Given the description of an element on the screen output the (x, y) to click on. 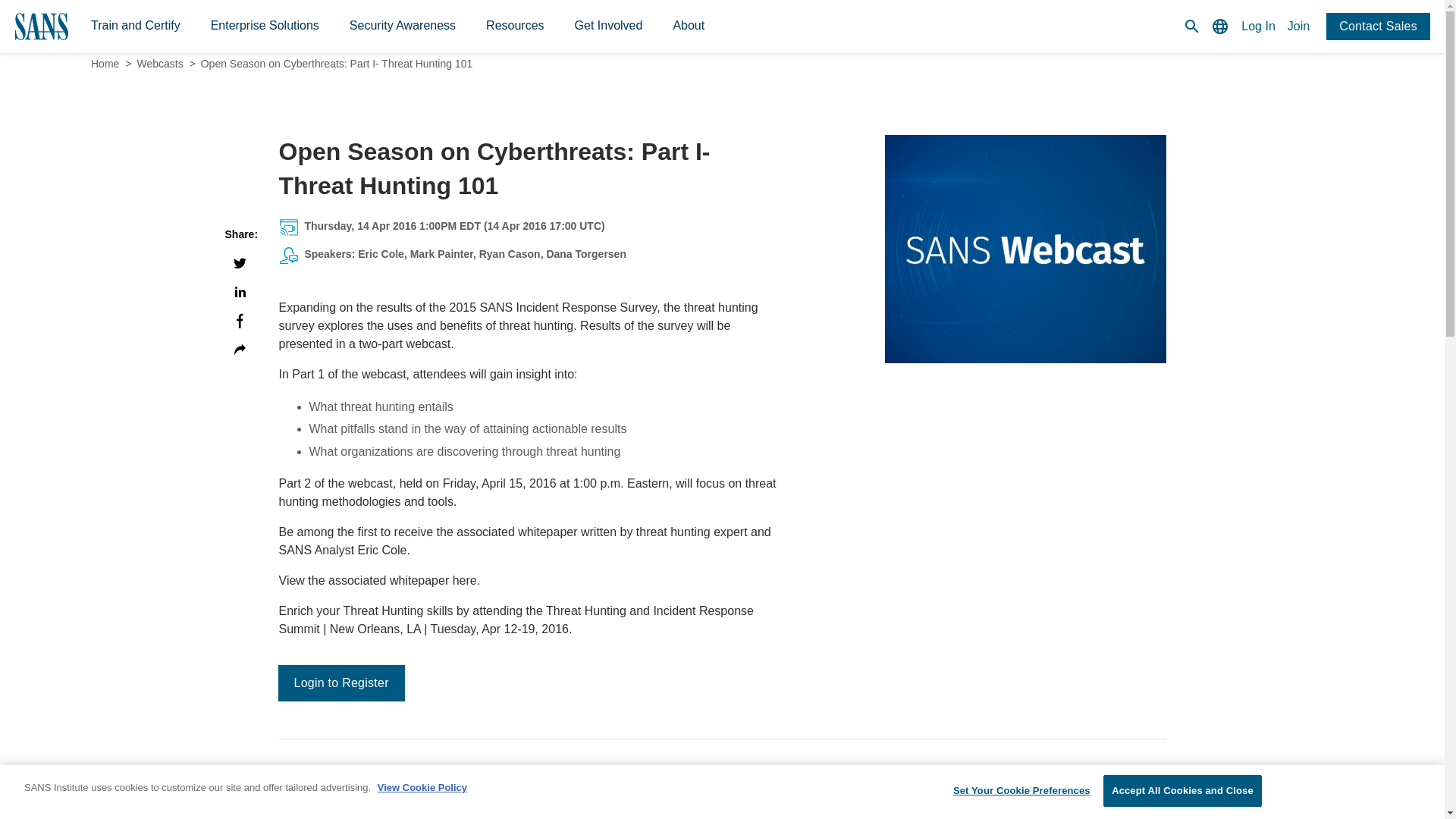
LinkedIn (239, 291)
Copy to clipboard (239, 349)
homepage (60, 26)
homepage (60, 26)
Train and Certify (135, 25)
Twitter (239, 262)
Facebook (239, 320)
